Given the description of an element on the screen output the (x, y) to click on. 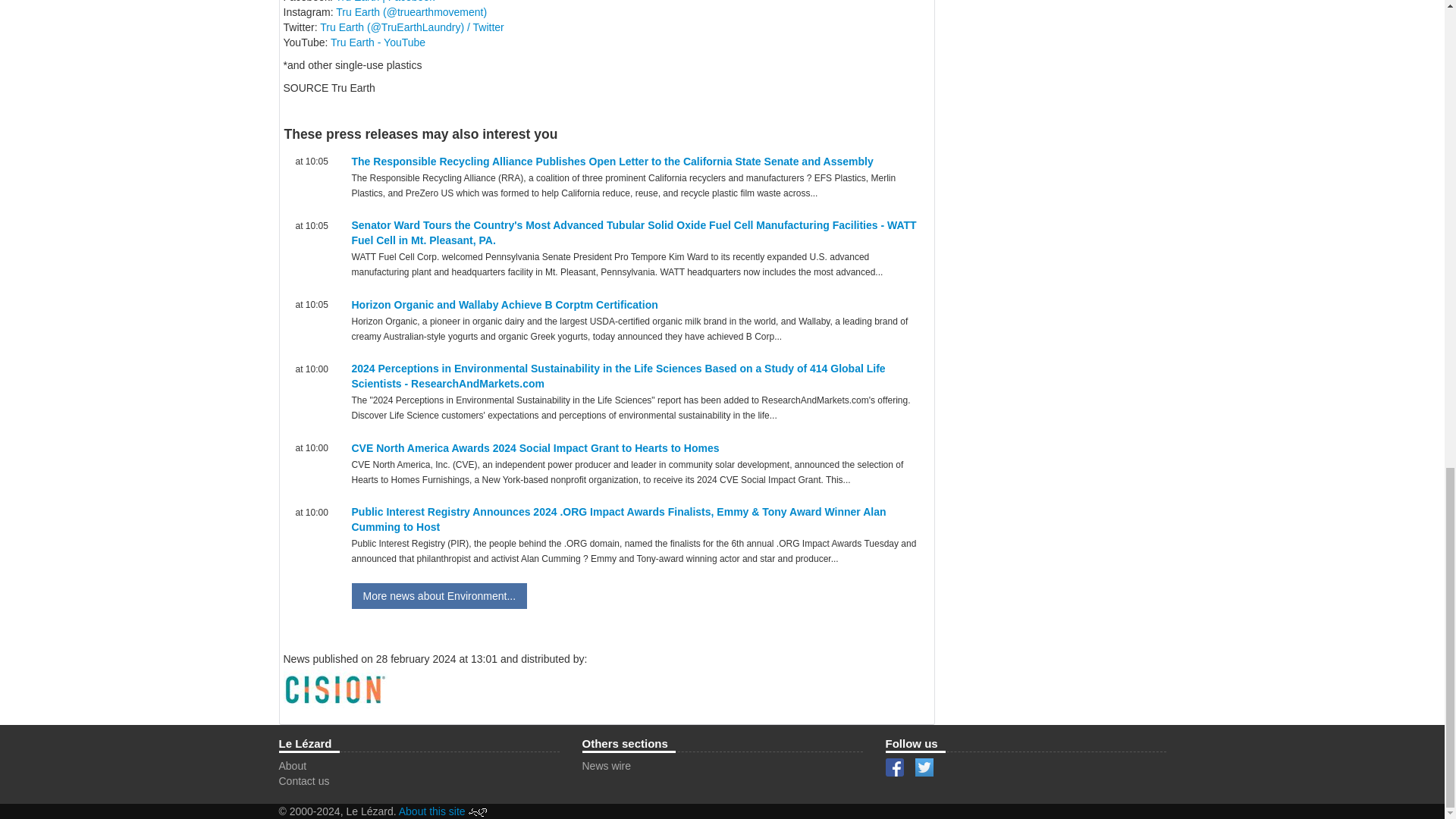
Contact us (304, 780)
Horizon Organic and Wallaby Achieve B Corptm Certification (505, 304)
Tru Earth - YouTube (377, 42)
More news about Environment... (439, 596)
About this site (431, 811)
About (293, 766)
